Given the description of an element on the screen output the (x, y) to click on. 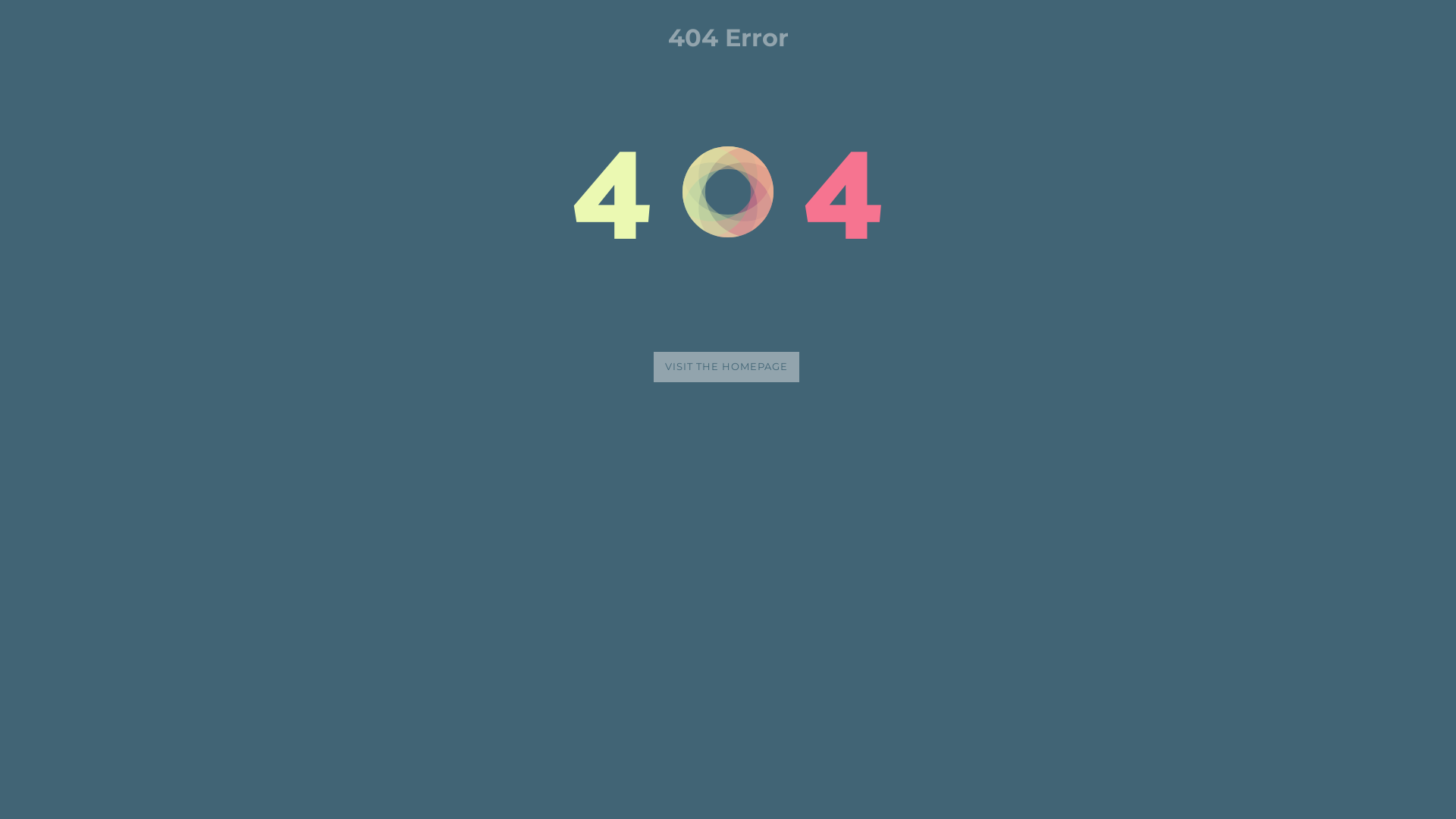
VISIT THE HOMEPAGE Element type: text (726, 366)
